Given the description of an element on the screen output the (x, y) to click on. 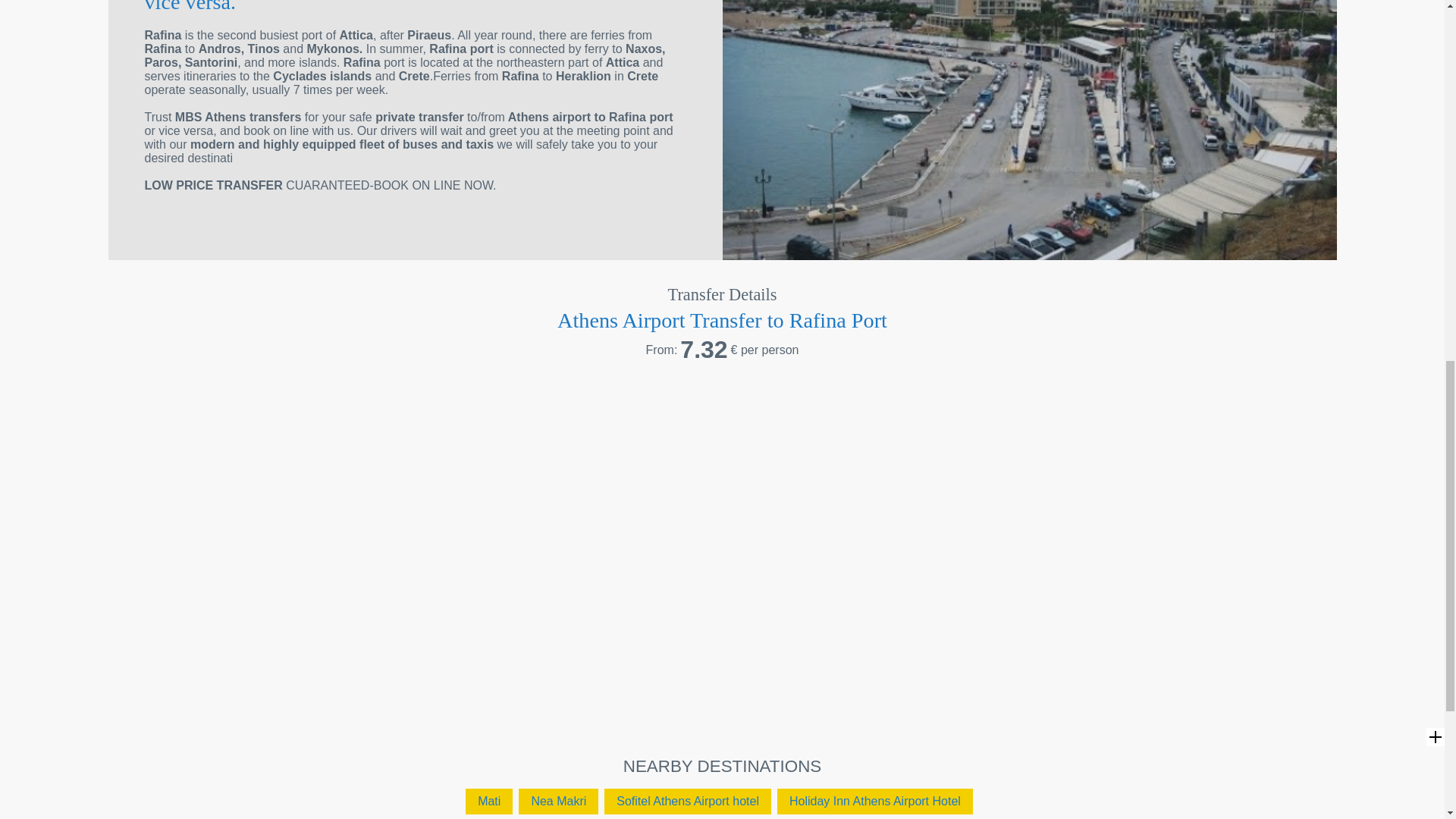
Mati (488, 801)
Holiday Inn Athens Airport Hotel (874, 801)
Sofitel Athens Airport hotel (687, 801)
Nea Makri (558, 801)
